Given the description of an element on the screen output the (x, y) to click on. 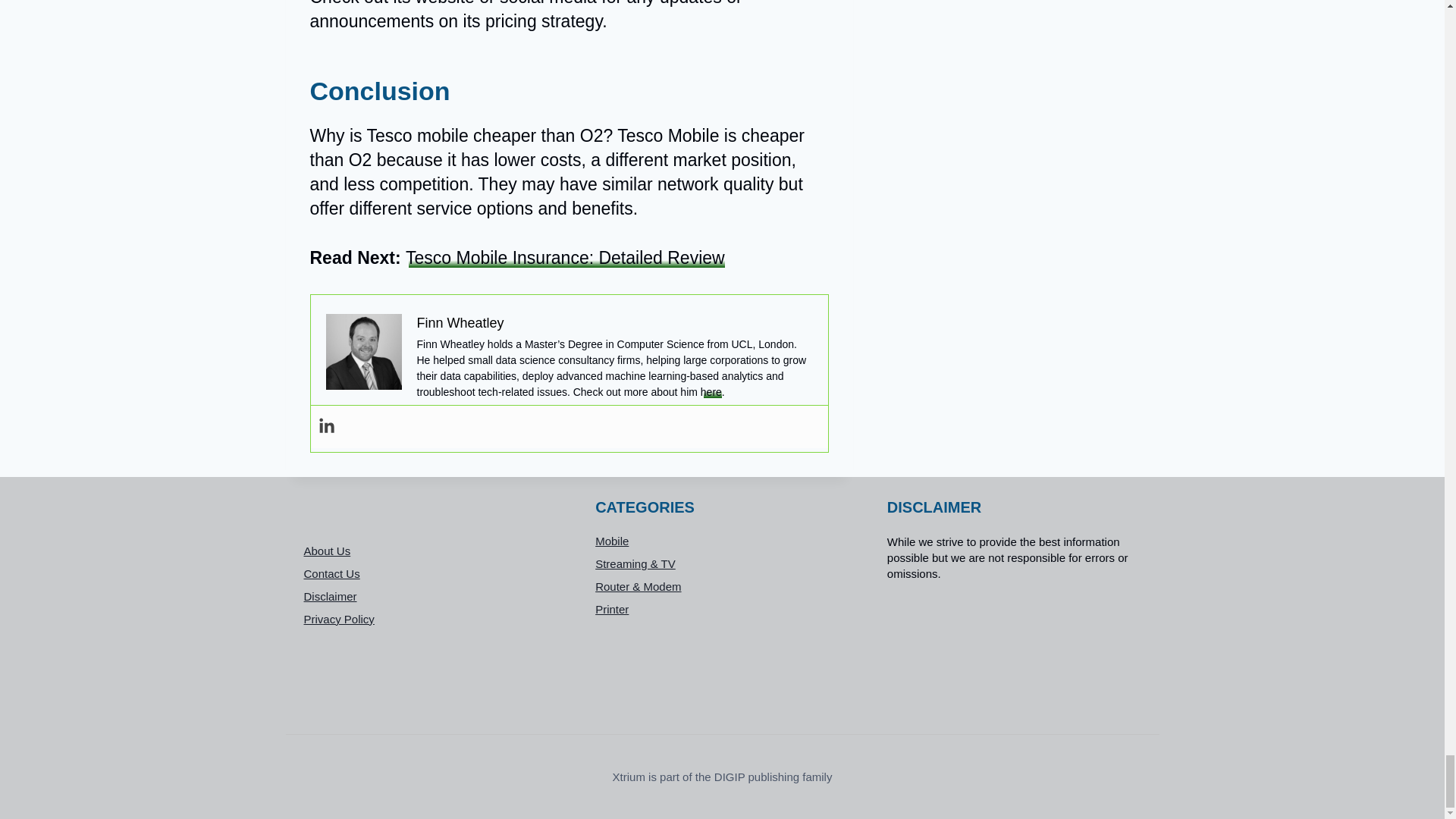
Contact Us (429, 572)
About Us (429, 549)
Finn Wheatley (459, 322)
here (711, 391)
Mobile (721, 540)
Privacy Policy (429, 618)
DMCA.com Protection Status (1013, 649)
Tesco Mobile Insurance: Detailed Review (565, 257)
Printer (721, 609)
Disclaimer (429, 595)
